Given the description of an element on the screen output the (x, y) to click on. 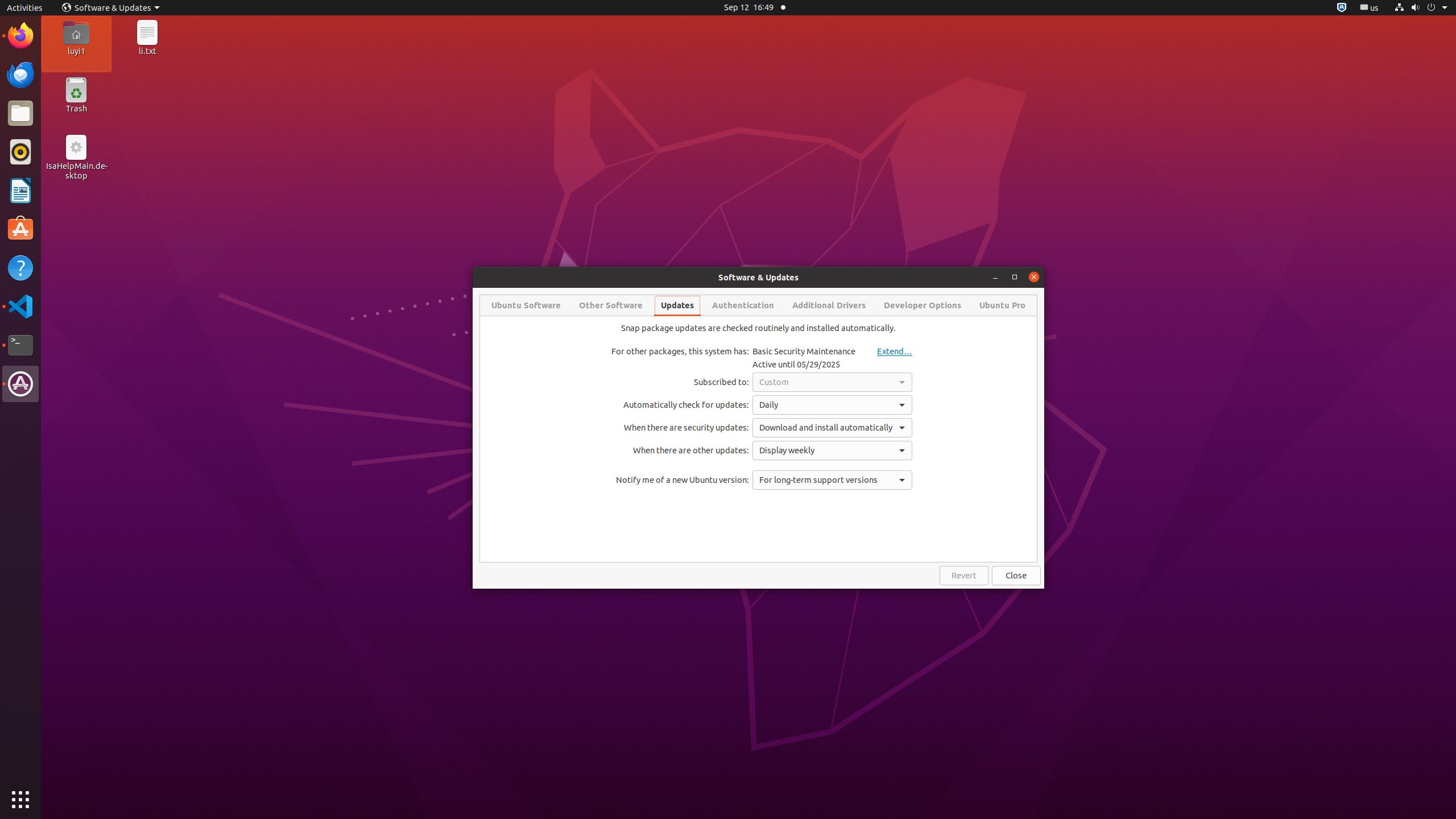
When there are security updates: Element type: label (680, 427)
Activities Element type: label (24, 7)
Active until 05/29/2025 Element type: label (796, 364)
Authentication Element type: page-tab (743, 304)
Software & Updates Element type: menu (110, 7)
